Given the description of an element on the screen output the (x, y) to click on. 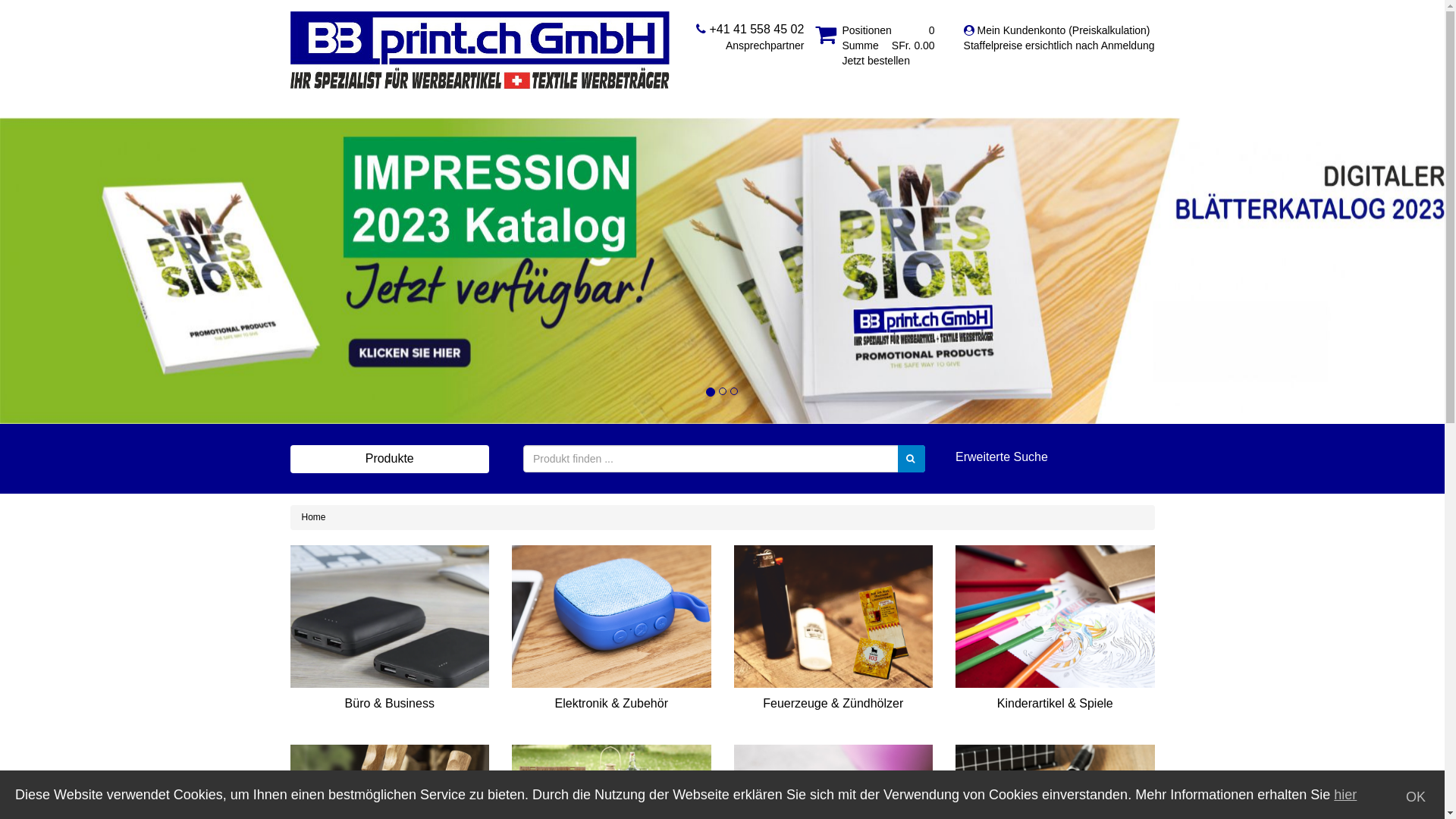
OK Element type: text (1415, 796)
Ansprechpartner Element type: text (749, 45)
Produkte Element type: text (389, 459)
Home Element type: text (313, 516)
hier Element type: text (1344, 794)
Kinderartikel & Spiele Element type: text (1054, 639)
Jetzt bestellen Element type: text (875, 60)
Erweiterte Suche Element type: text (1054, 457)
+41 41 558 45 02
Ansprechpartner Element type: text (749, 37)
